Given the description of an element on the screen output the (x, y) to click on. 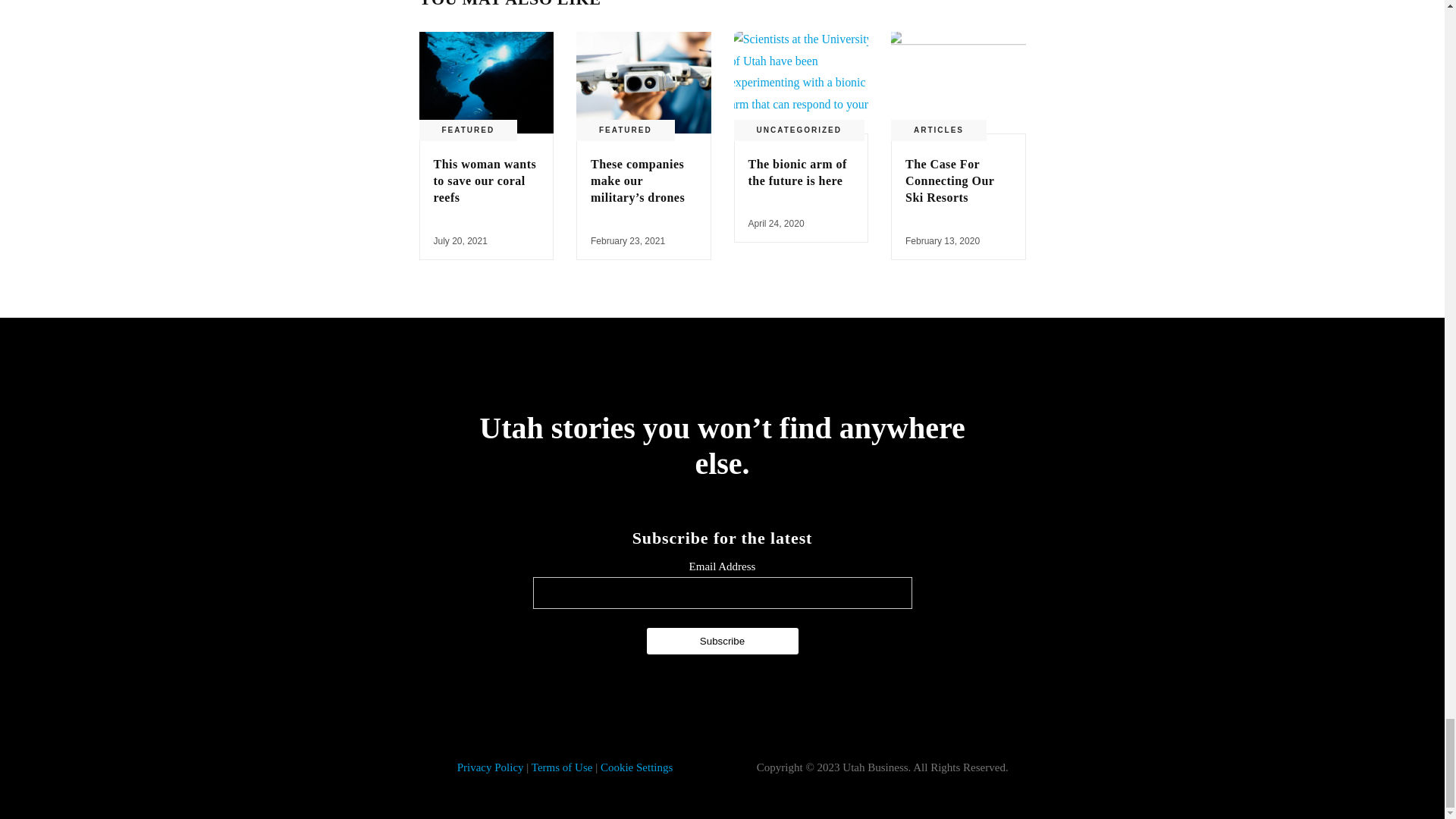
The bionic arm of the future is here (796, 172)
July 20, 2021 (460, 240)
This woman wants to save our coral reefs (486, 81)
The Case For Connecting Our Ski Resorts (949, 181)
Subscribe (721, 641)
The bionic arm of the future is here (801, 81)
This woman wants to save our coral reefs (485, 181)
The Case For Connecting Our Ski Resorts (958, 81)
This woman wants to save our coral reefs (485, 181)
FEATURED (468, 130)
